Given the description of an element on the screen output the (x, y) to click on. 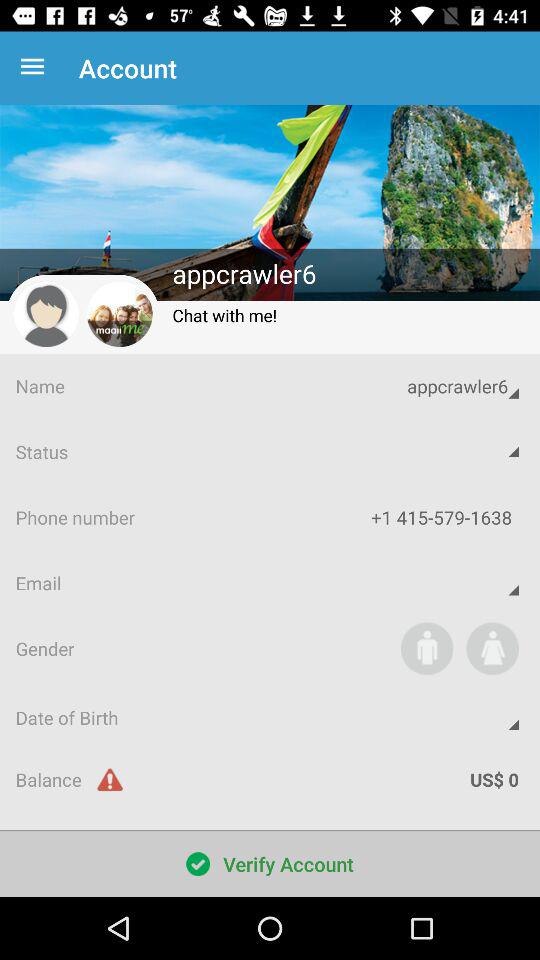
press app above date of birth app (426, 648)
